Given the description of an element on the screen output the (x, y) to click on. 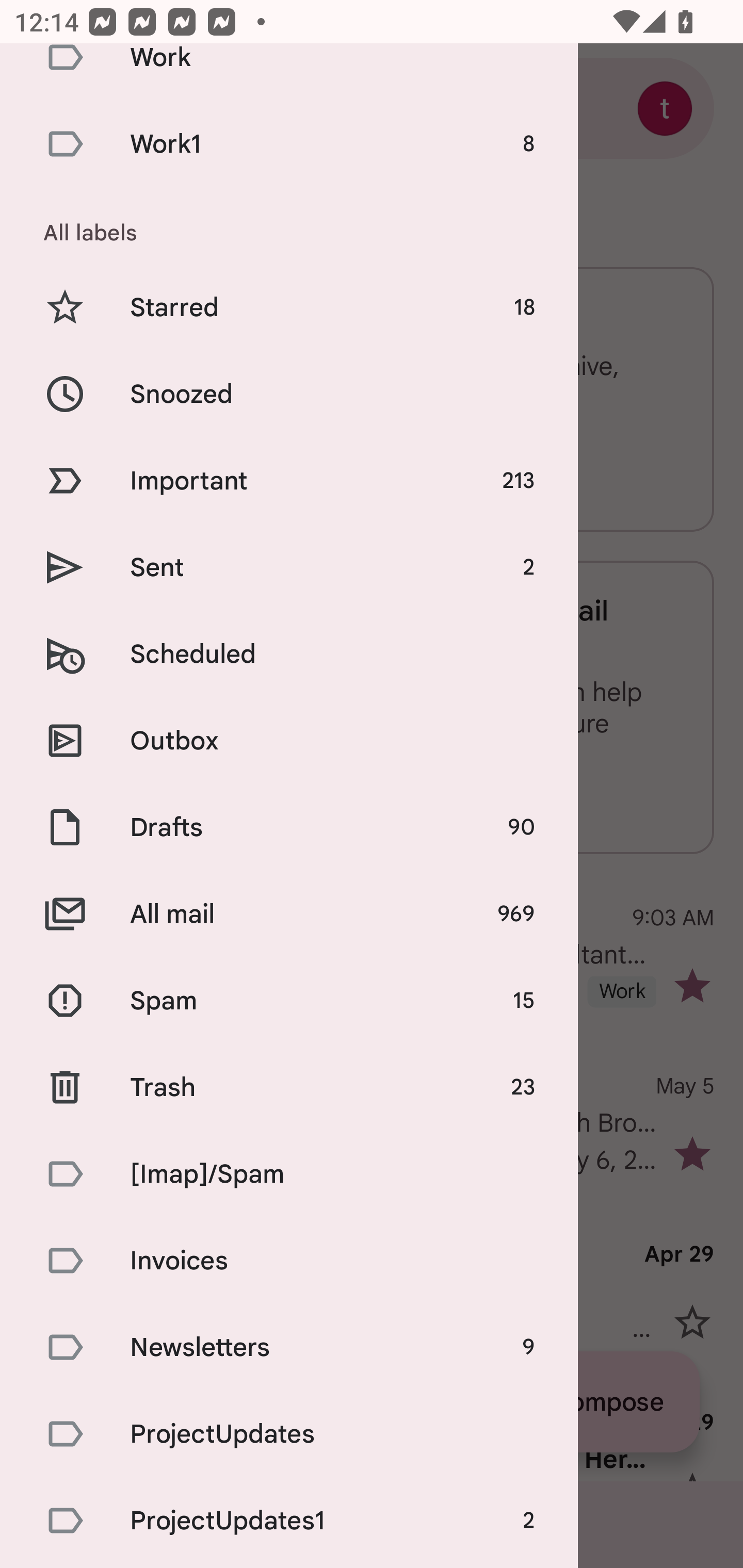
Work (289, 71)
Work1 8 (289, 143)
Starred 18 (289, 307)
Snoozed (289, 394)
Important 213 (289, 480)
Sent 2 (289, 566)
Scheduled (289, 653)
Outbox (289, 740)
Drafts 90 (289, 827)
All mail 969 (289, 914)
Spam 15 (289, 1001)
Trash 23 (289, 1087)
[Imap]/Spam (289, 1173)
Invoices (289, 1260)
Newsletters 9 (289, 1347)
ProjectUpdates (289, 1433)
ProjectUpdates1 2 (289, 1520)
